Given the description of an element on the screen output the (x, y) to click on. 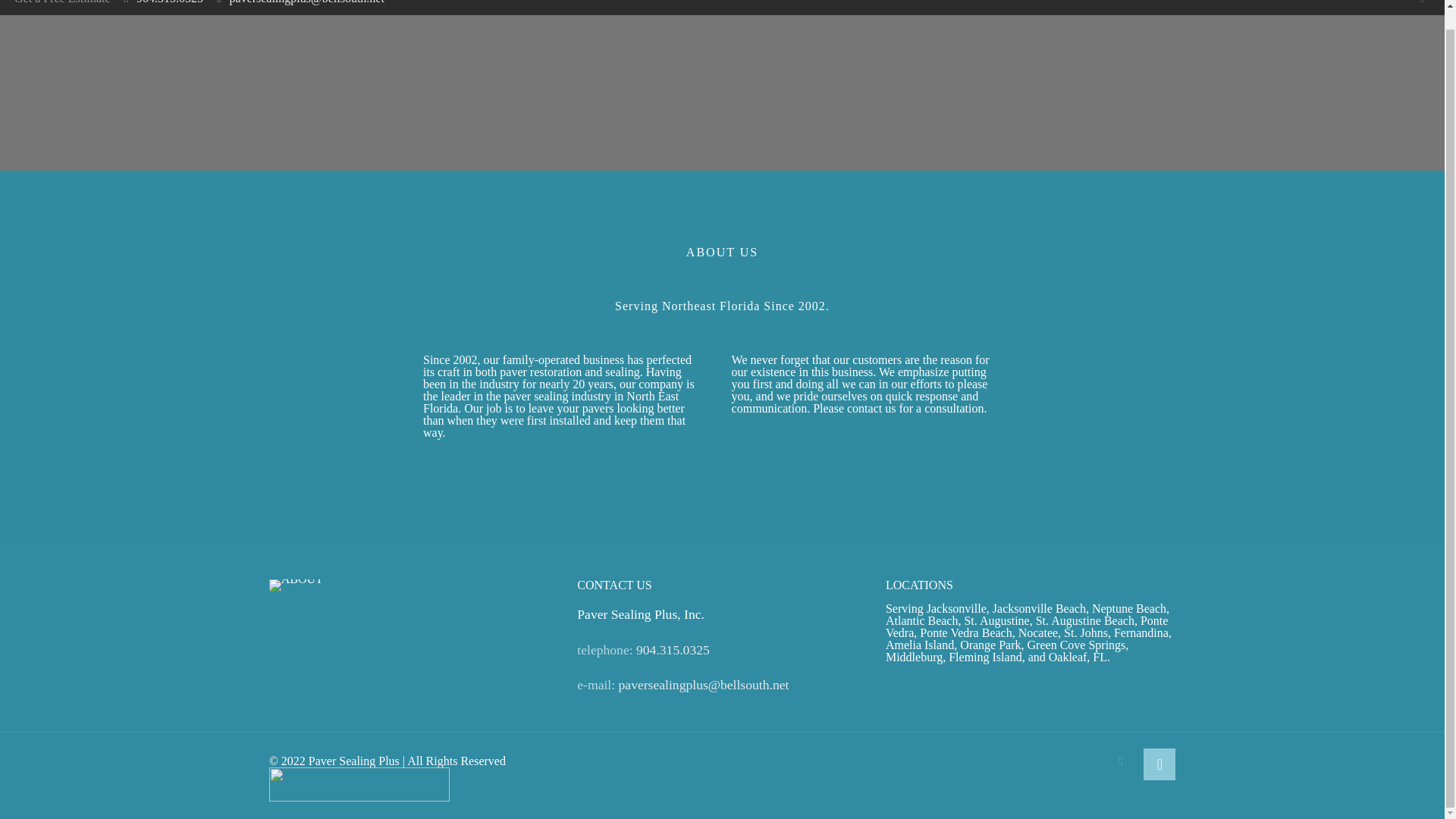
904.315.0325 (169, 2)
904.315.0325 (673, 649)
Facebook (1120, 761)
Facebook (1421, 2)
